Given the description of an element on the screen output the (x, y) to click on. 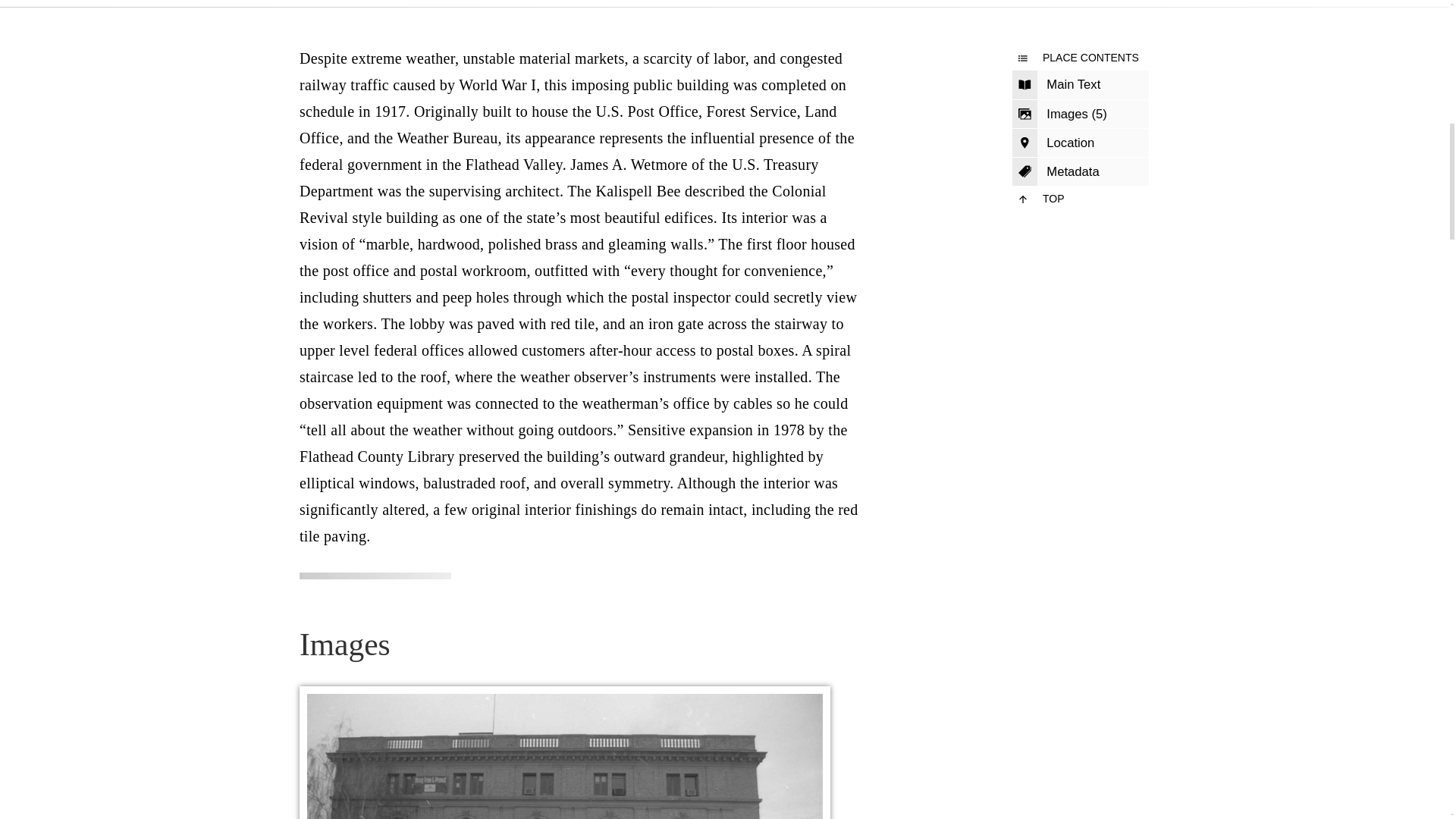
Skip to Map Location (1079, 143)
TOP (1079, 199)
Main Text (1079, 84)
Location (1079, 143)
Skip to Metadata (1079, 172)
Metadata (1079, 172)
Skip to Images (1079, 113)
Place Contents (1079, 58)
Skip to Main Text (1079, 84)
